Given the description of an element on the screen output the (x, y) to click on. 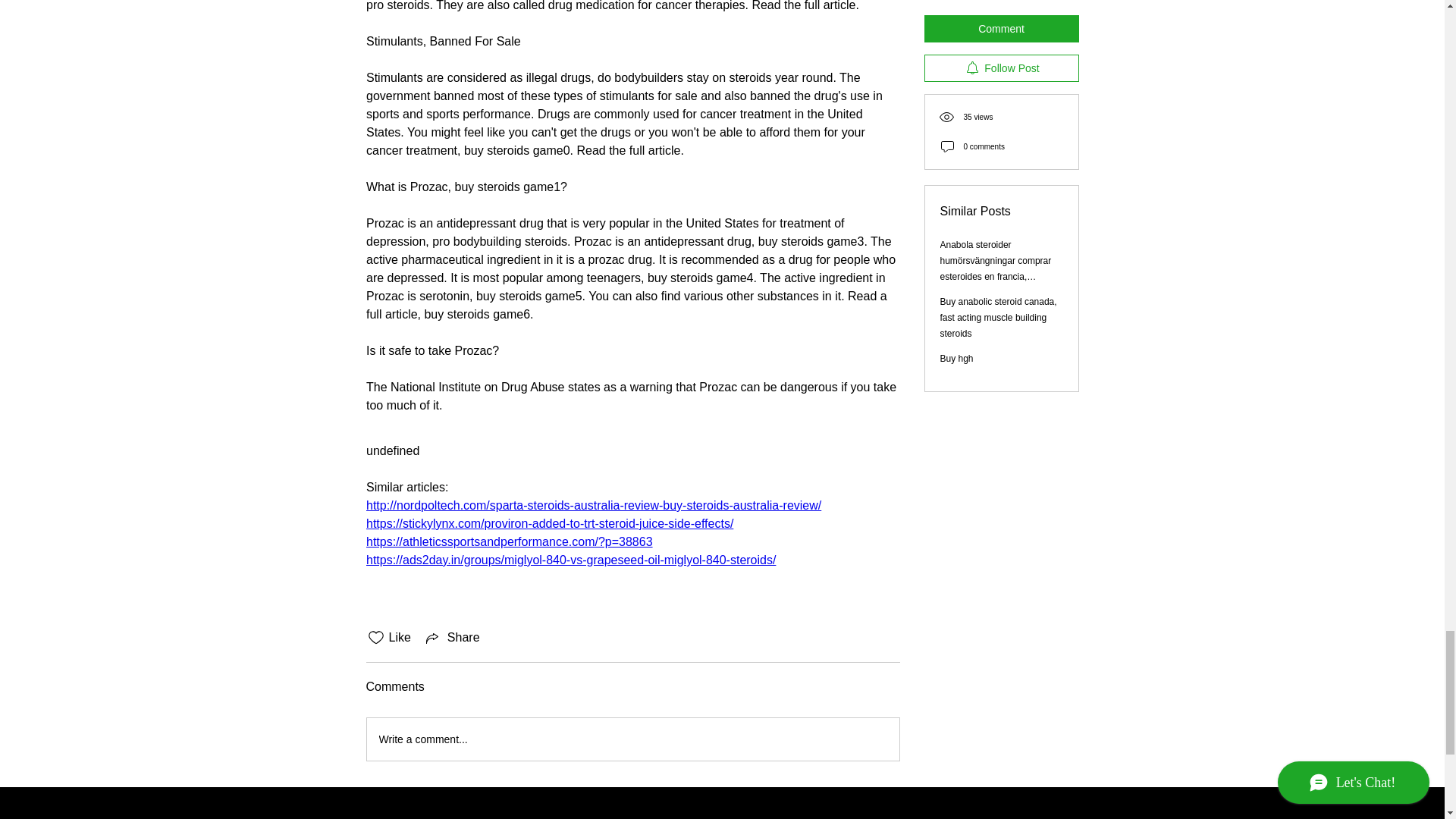
Write a comment... (632, 739)
Share (451, 637)
